Given the description of an element on the screen output the (x, y) to click on. 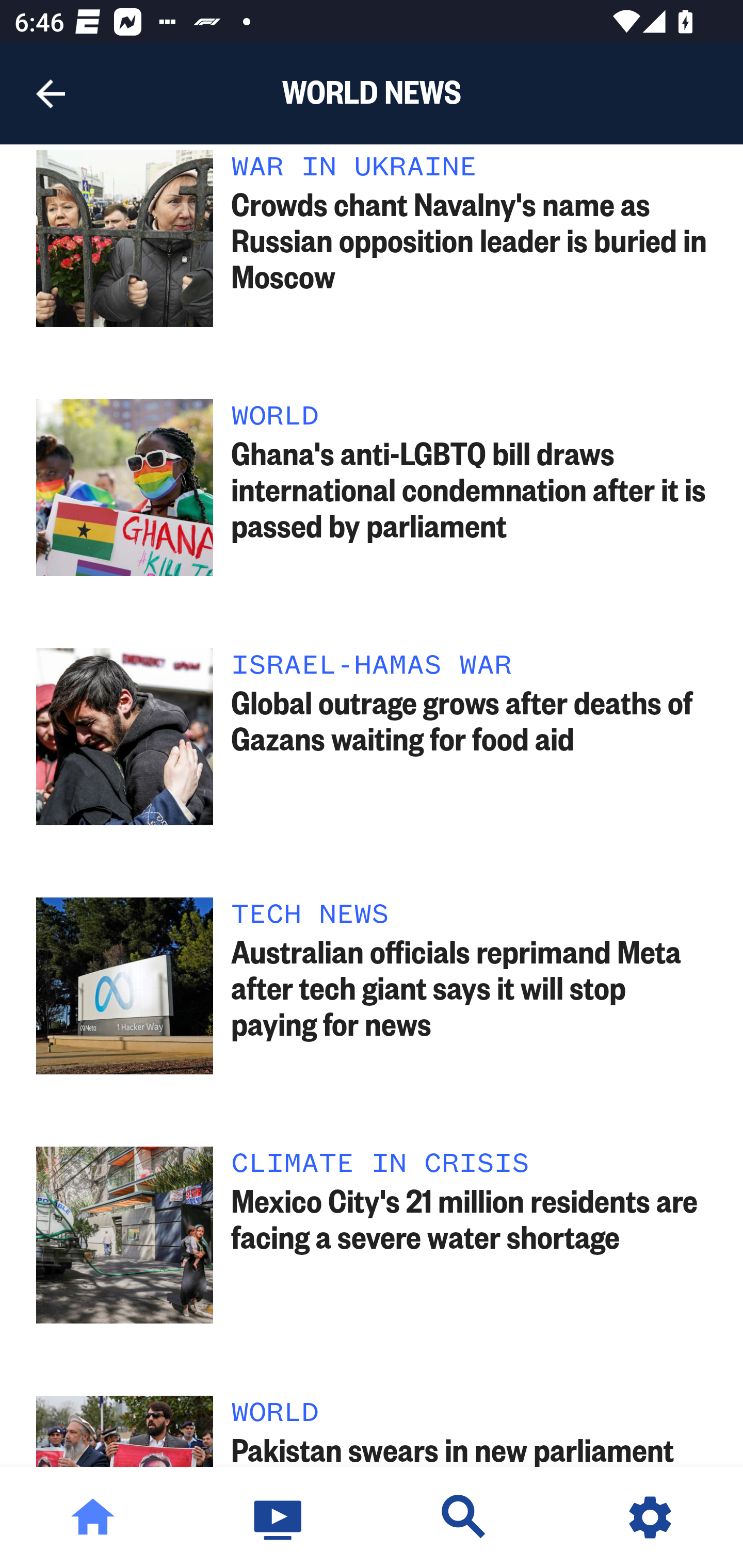
Navigate up (50, 93)
Watch (278, 1517)
Discover (464, 1517)
Settings (650, 1517)
